Given the description of an element on the screen output the (x, y) to click on. 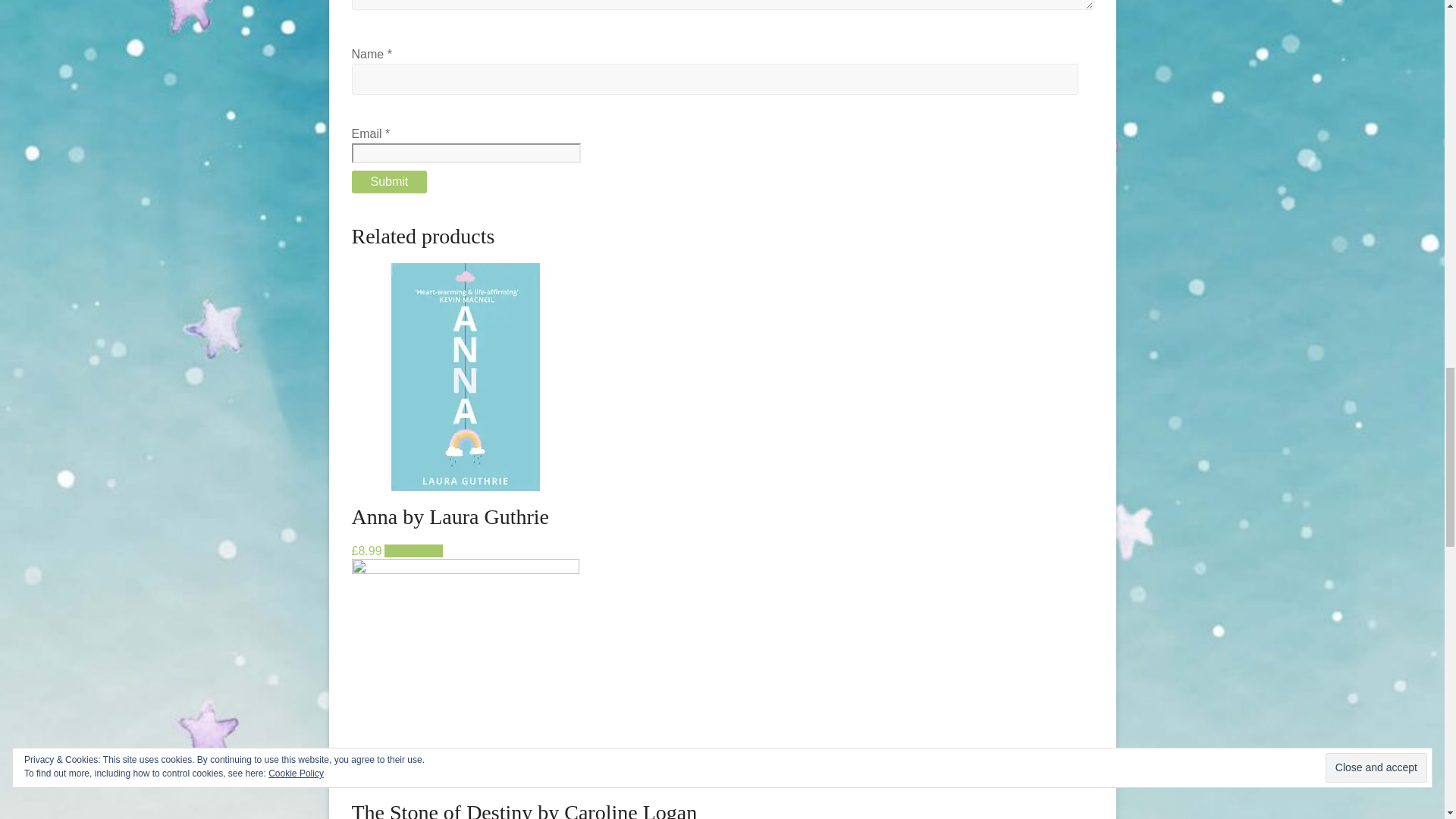
Submit (390, 181)
Add to cart (413, 550)
Submit (390, 181)
